Given the description of an element on the screen output the (x, y) to click on. 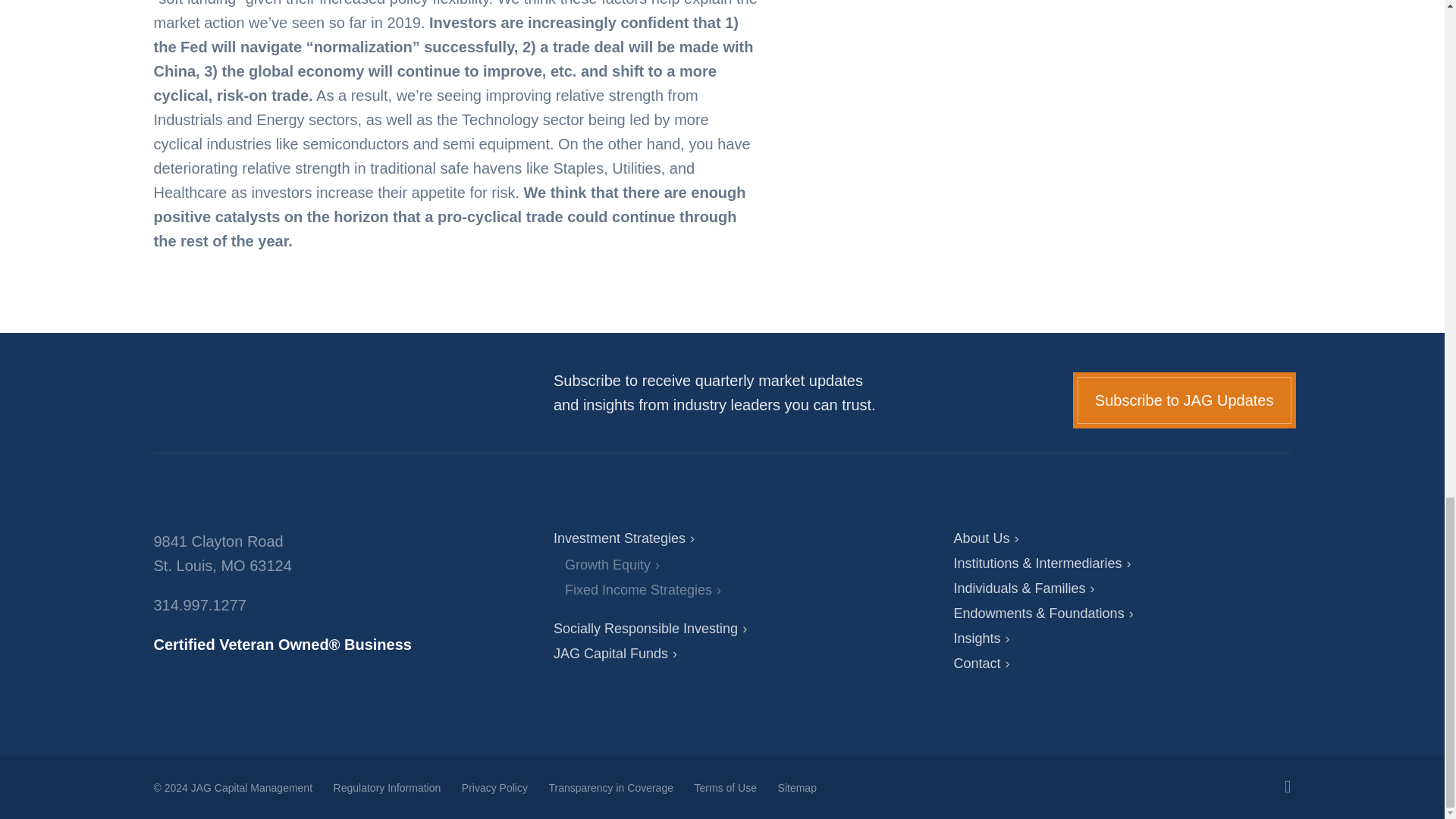
JAG Capital Funds (615, 653)
Transparency in Coverage (610, 787)
Contact (981, 663)
Subscribe to JAG Updates (1184, 400)
Regulatory Information (387, 787)
Investment Strategies (623, 538)
Sitemap (796, 787)
Privacy Policy (494, 787)
Insights (981, 638)
Socially Responsible Investing (649, 628)
